Given the description of an element on the screen output the (x, y) to click on. 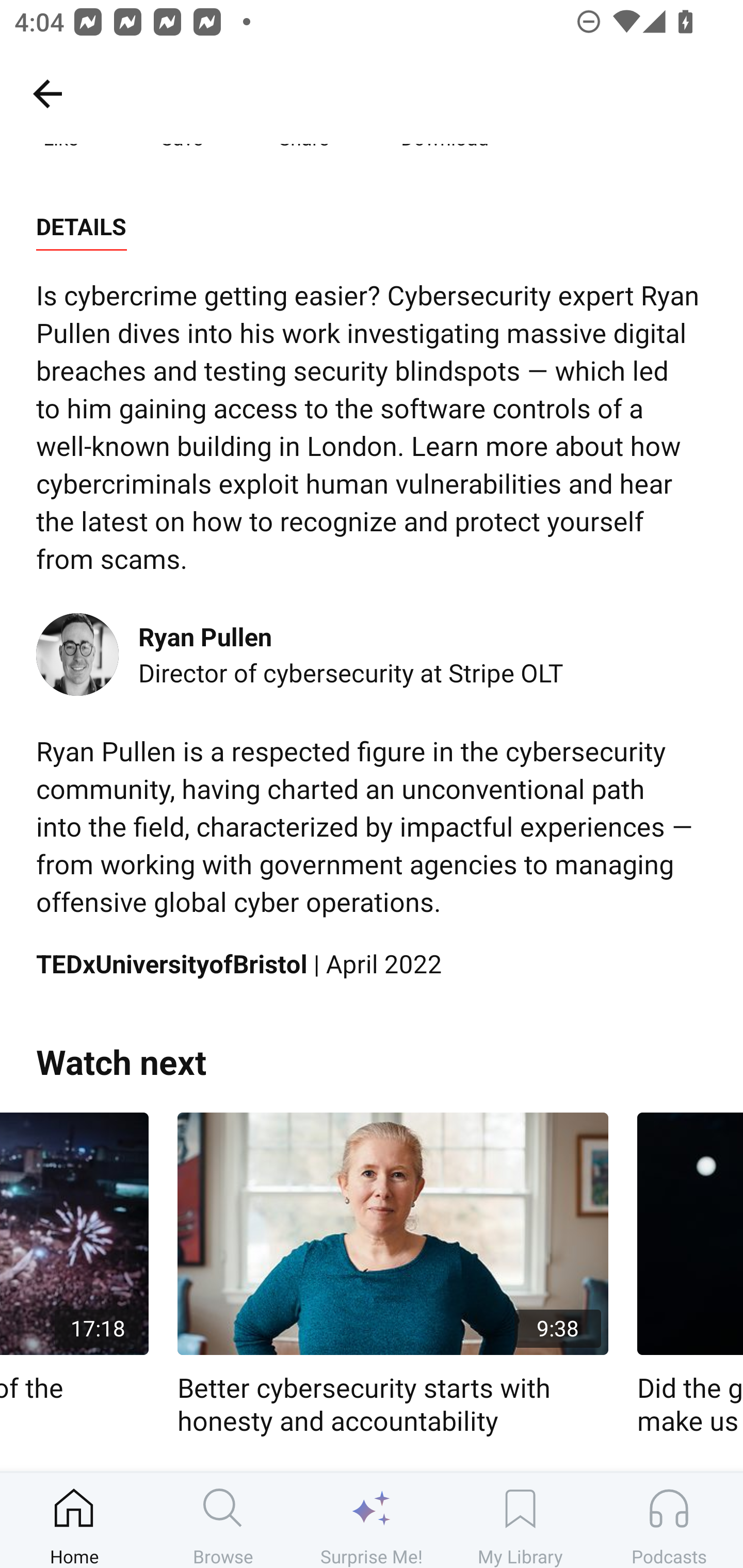
Home, back (47, 92)
DETAILS (80, 226)
Home (74, 1520)
Browse (222, 1520)
Surprise Me! (371, 1520)
My Library (519, 1520)
Podcasts (668, 1520)
